Given the description of an element on the screen output the (x, y) to click on. 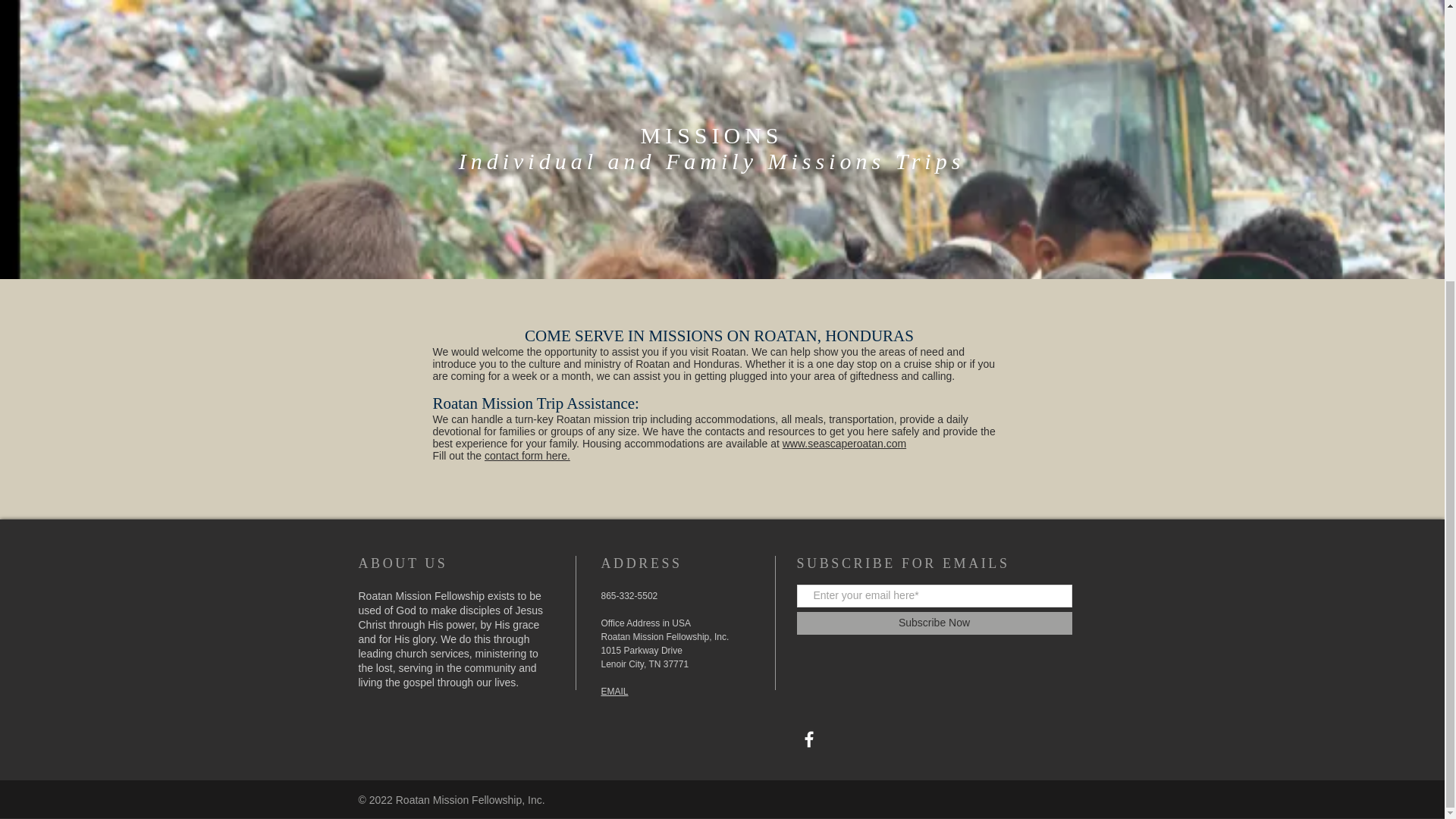
Subscribe Now (933, 622)
www.seascaperoatan.com (844, 443)
EMAIL (613, 691)
contact form here. (527, 455)
